Given the description of an element on the screen output the (x, y) to click on. 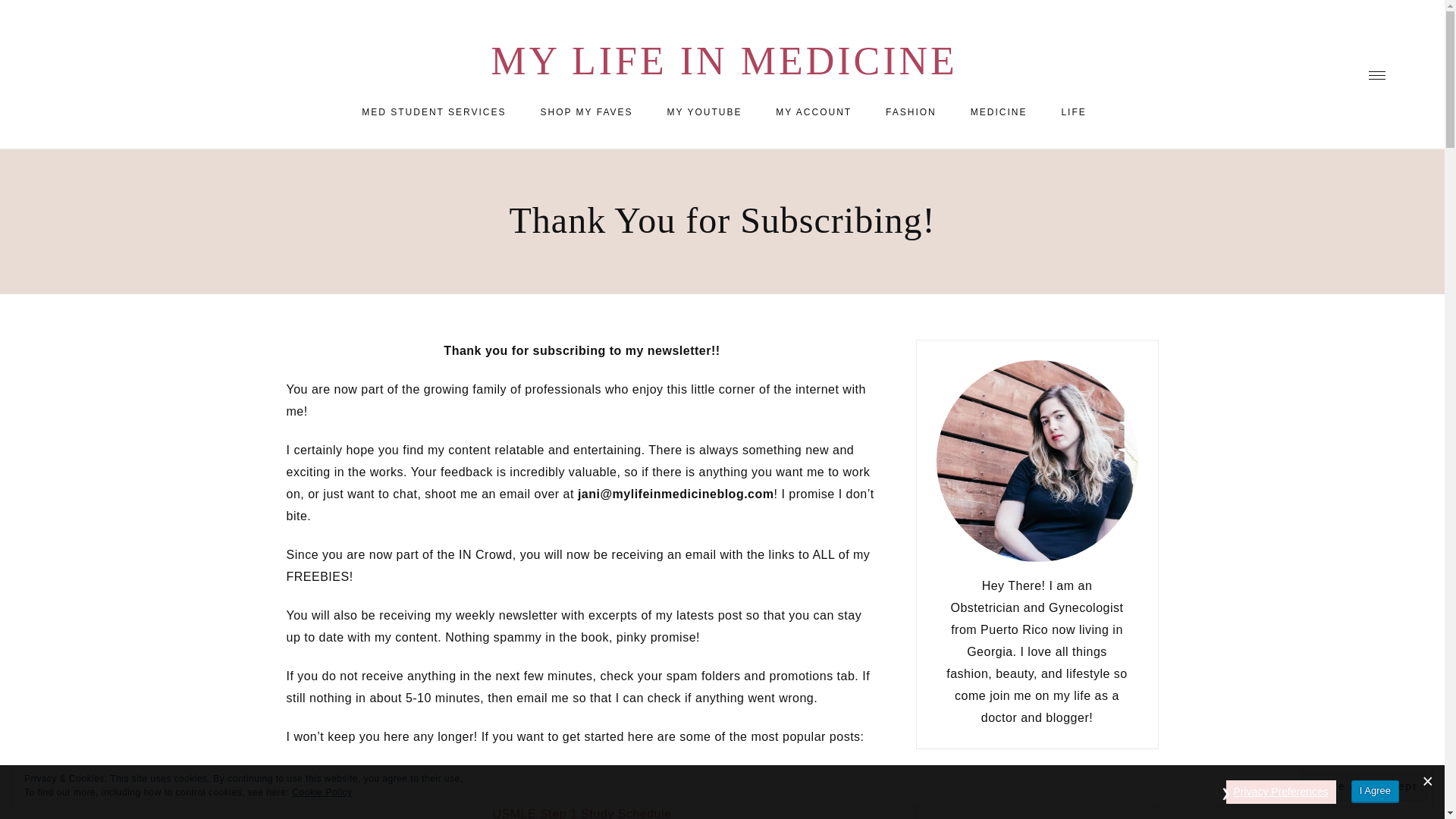
FASHION (911, 111)
MY ACCOUNT (813, 111)
MY YOUTUBE (703, 111)
SHOP MY FAVES (585, 111)
Close and accept (1363, 786)
MY LIFE IN MEDICINE (724, 60)
MED STUDENT SERVICES (433, 111)
